Given the description of an element on the screen output the (x, y) to click on. 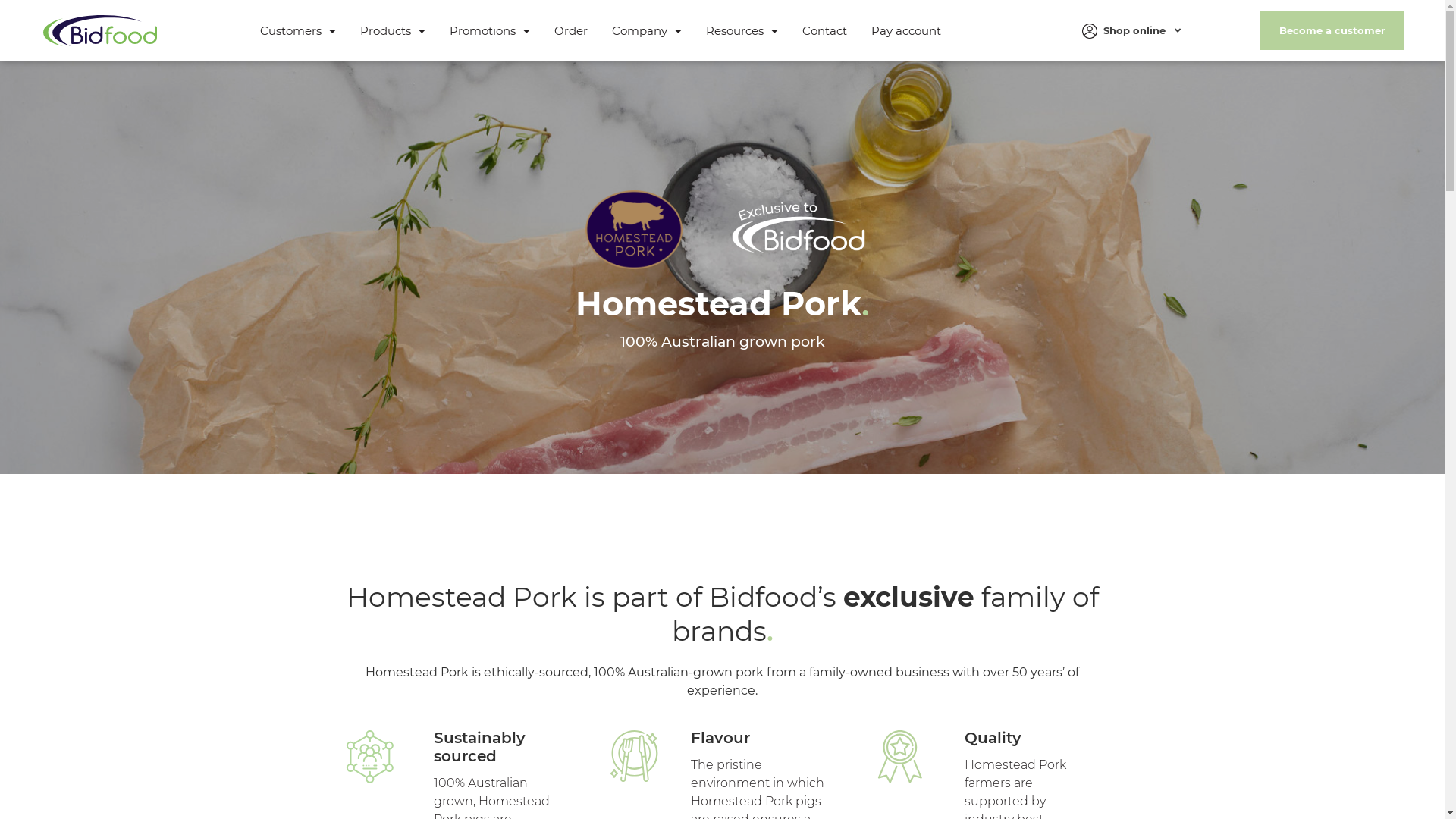
Homestead Pork 1 Element type: hover (633, 229)
Customers Element type: text (297, 30)
Company Element type: text (646, 30)
Products Element type: text (392, 30)
Contact Element type: text (824, 30)
Homestead Pork 2 Element type: hover (798, 229)
Resources Element type: text (741, 30)
Order Element type: text (570, 30)
Pay account Element type: text (905, 30)
Promotions Element type: text (489, 30)
Become a customer Element type: text (1331, 30)
